Given the description of an element on the screen output the (x, y) to click on. 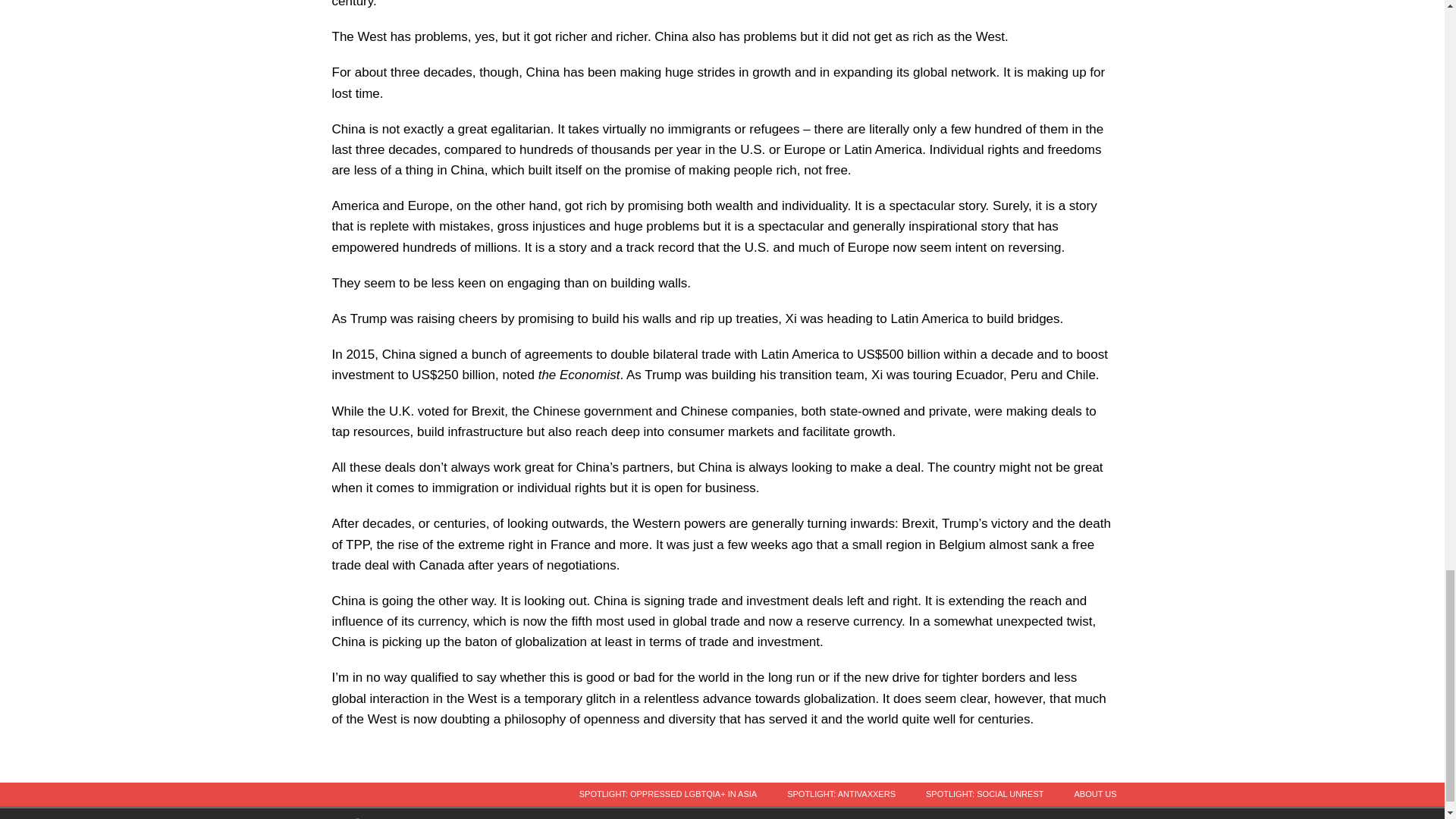
SPOTLIGHT: ANTIVAXXERS (841, 793)
SPOTLIGHT: SOCIAL UNREST (984, 793)
ABOUT US (1094, 793)
